Given the description of an element on the screen output the (x, y) to click on. 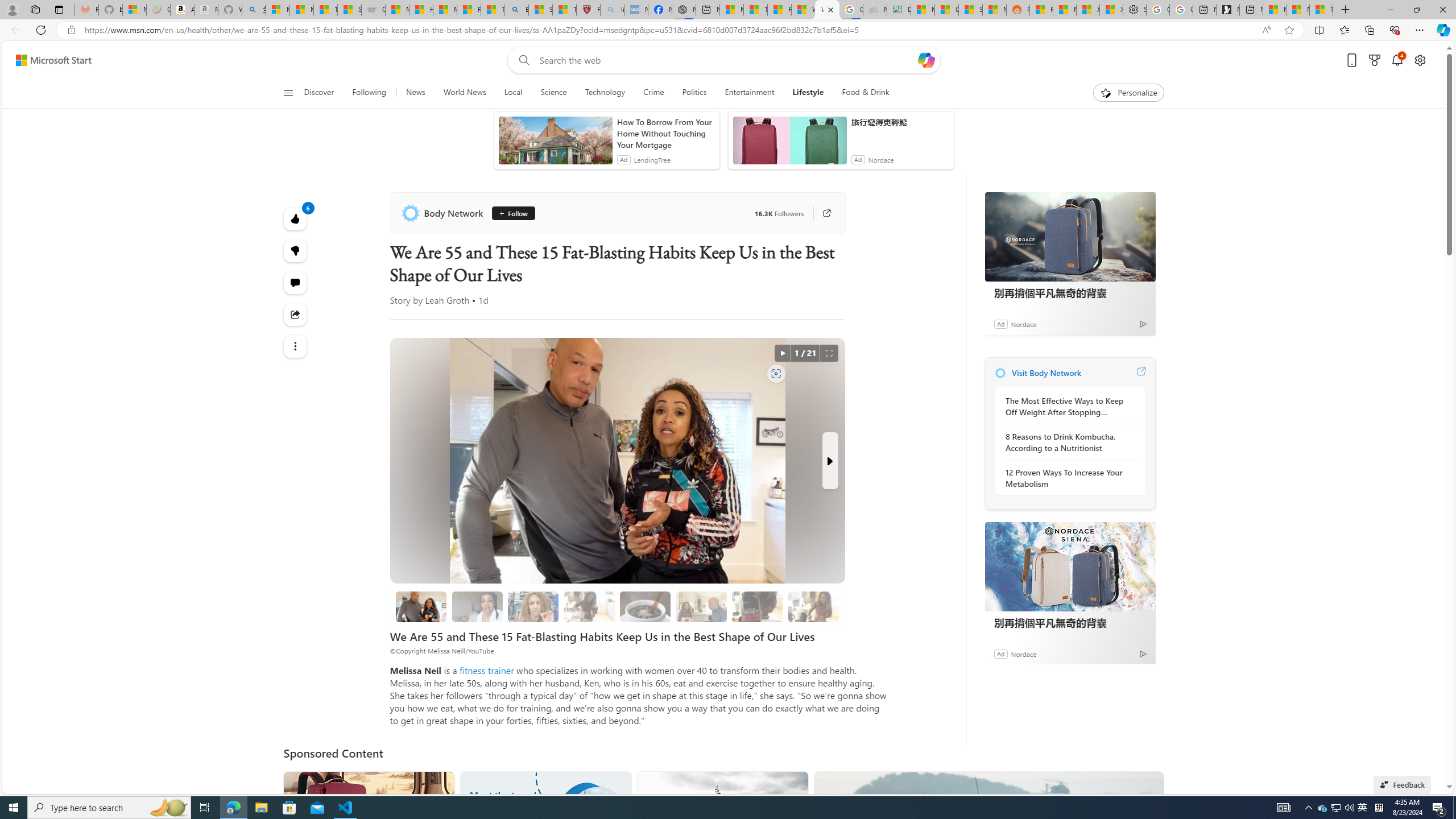
LendingTree (652, 159)
3 They Drink Lemon Tea (588, 606)
